Given the description of an element on the screen output the (x, y) to click on. 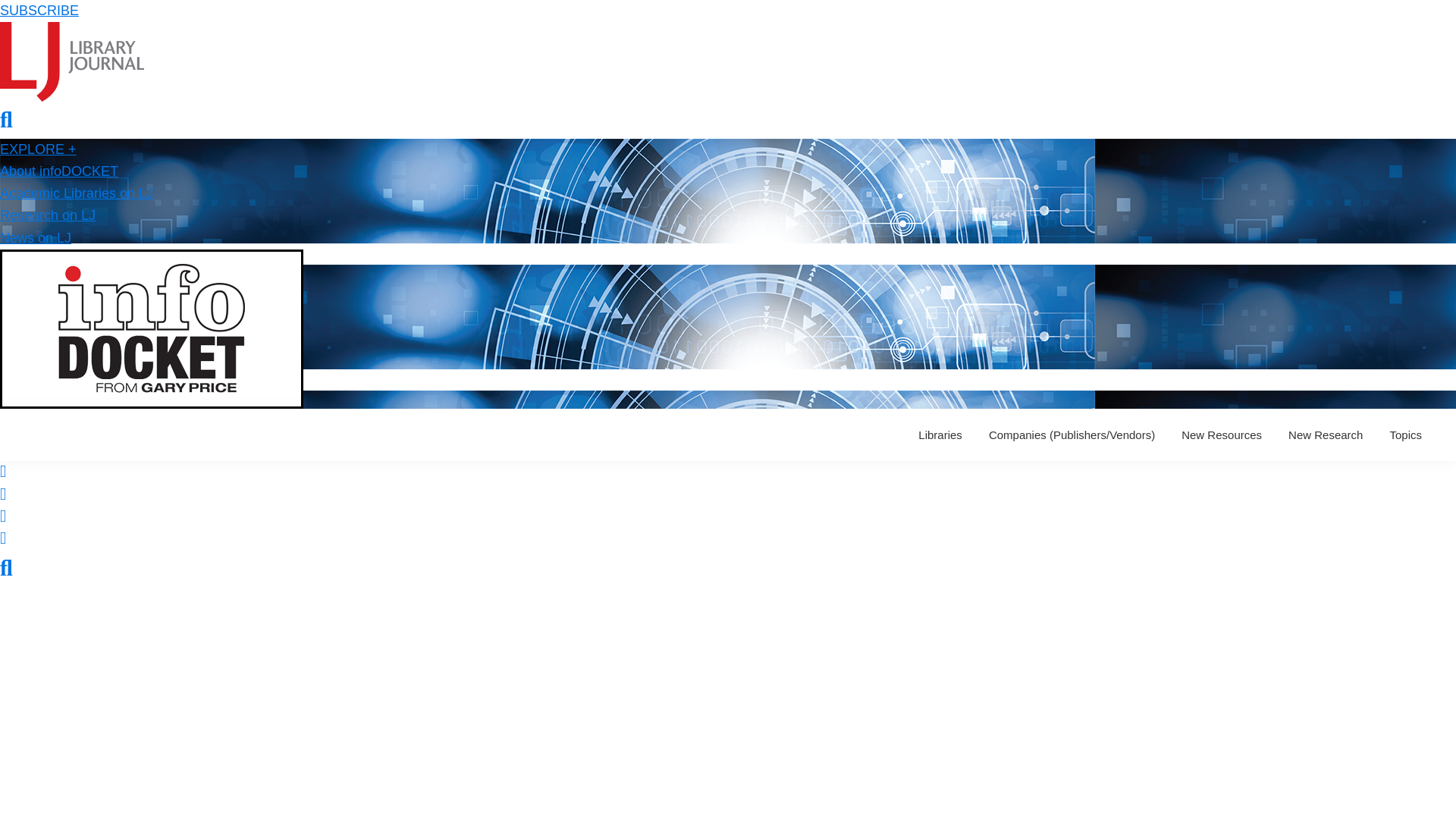
New Research (1325, 434)
News on LJ (35, 237)
Libraries (940, 434)
SUBSCRIBE (39, 10)
About infoDOCKET (58, 171)
Academic Libraries on LJ (76, 192)
New Resources (1221, 434)
Research on LJ (48, 215)
